Given the description of an element on the screen output the (x, y) to click on. 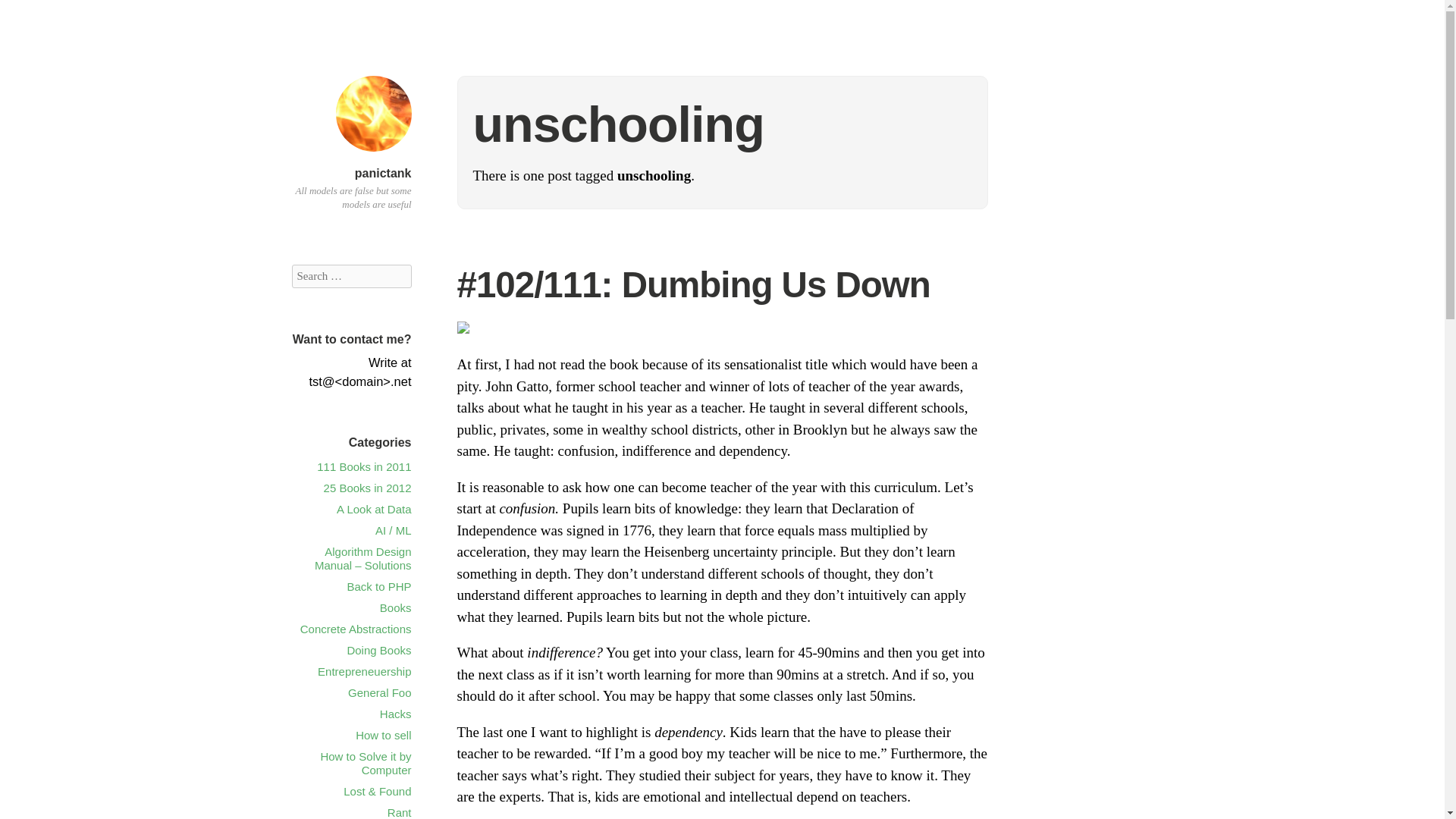
Rant (399, 812)
Doing Books (378, 649)
How to sell (382, 735)
Concrete Abstractions (355, 628)
25 Books in 2012 (367, 487)
111 Books in 2011 (363, 466)
panictank (372, 154)
How to Solve it by Computer (365, 763)
Hacks (396, 713)
Entrepreneuership (363, 671)
panictank (383, 173)
A Look at Data (373, 508)
Back to PHP (378, 585)
Search (29, 13)
panictank (383, 173)
